Given the description of an element on the screen output the (x, y) to click on. 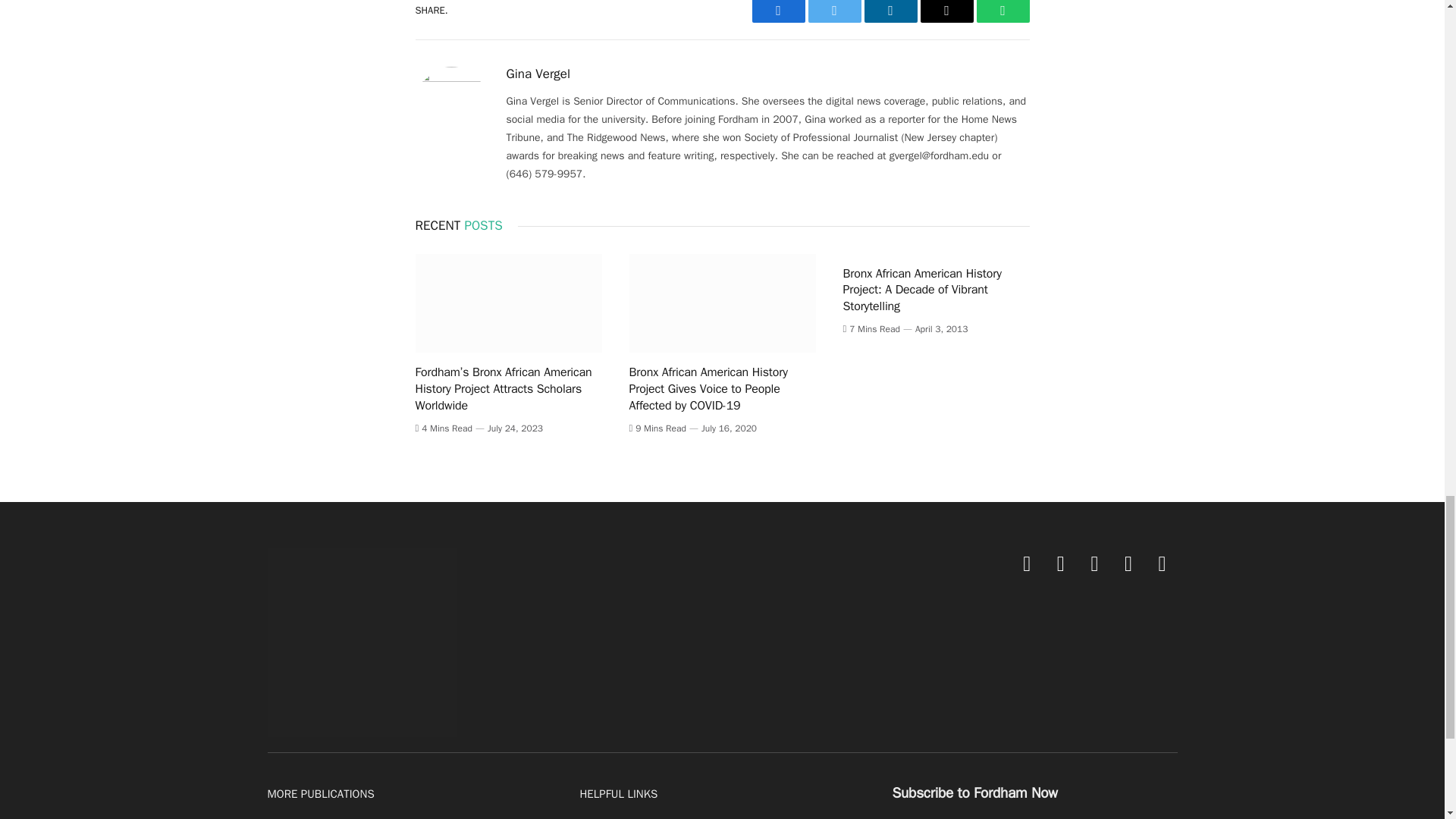
Posts by Gina Vergel (538, 73)
Share on Facebook (778, 11)
Share via Email (947, 11)
Share on LinkedIn (890, 11)
Share on WhatsApp (1002, 11)
